Given the description of an element on the screen output the (x, y) to click on. 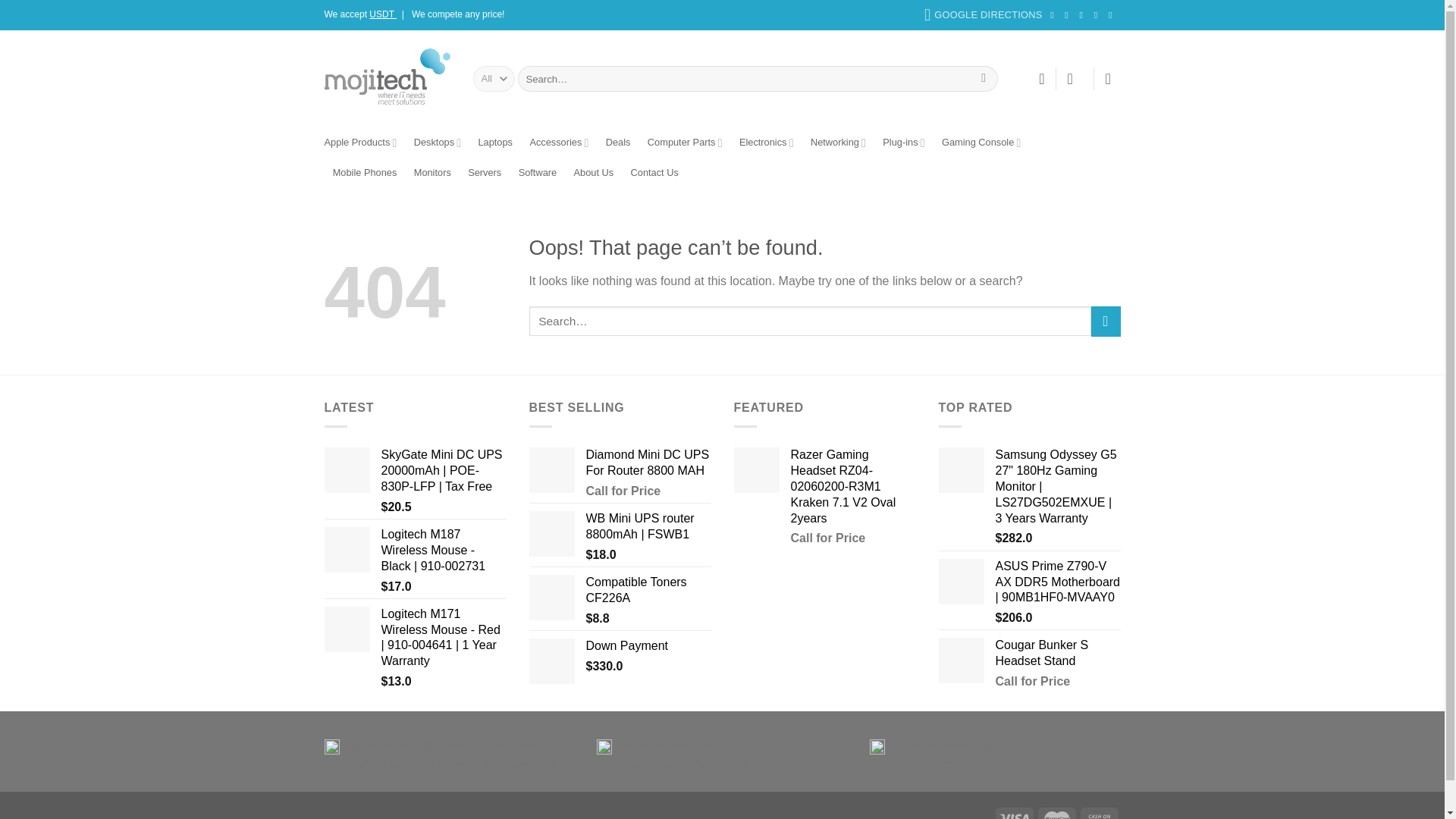
Search (983, 78)
Desktops (437, 142)
GOOGLE DIRECTIONS (983, 14)
Accessories (558, 142)
Apple Products (360, 142)
Mojitech - Computer Shop (386, 78)
Laptops (494, 142)
